Given the description of an element on the screen output the (x, y) to click on. 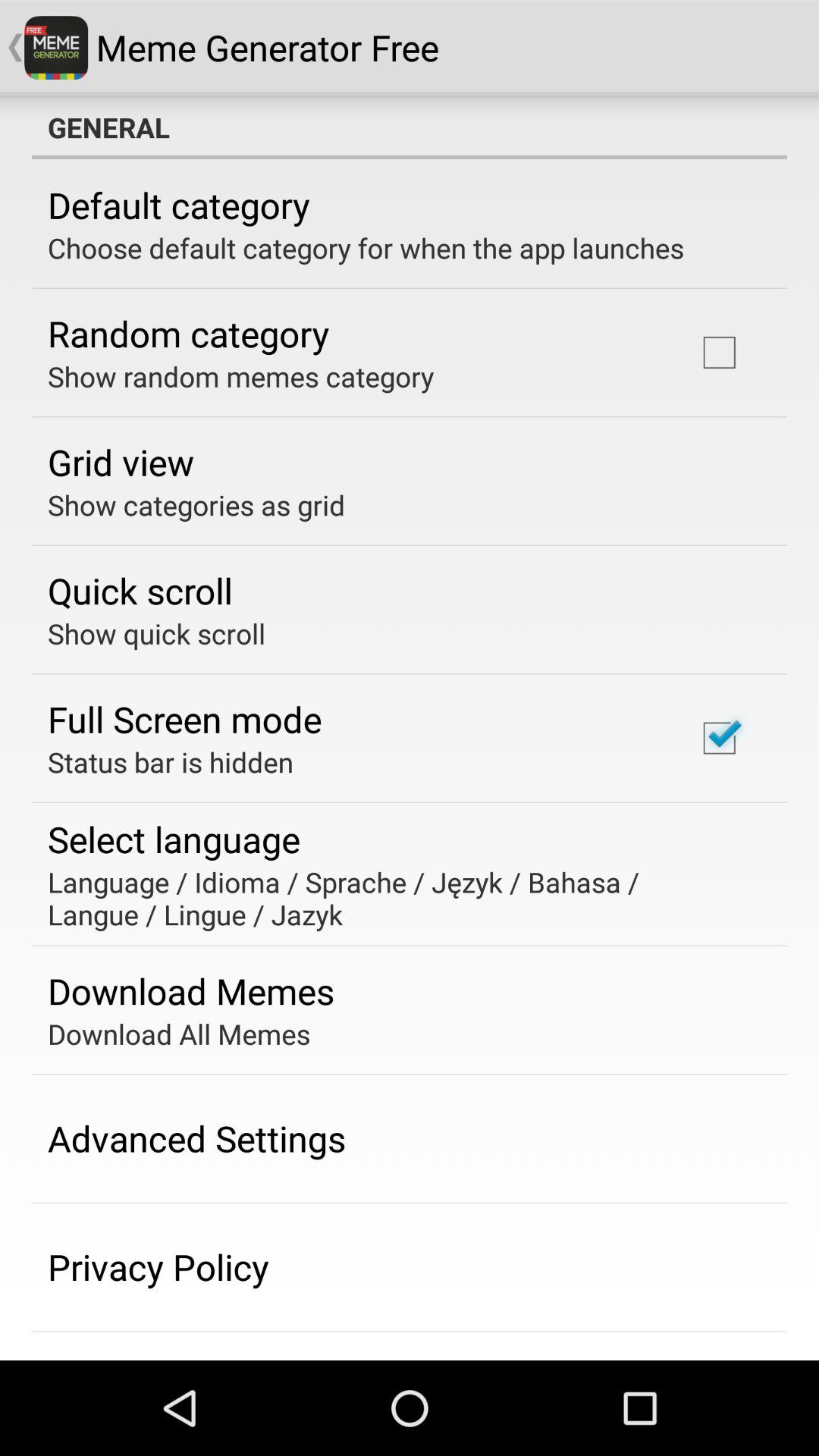
turn off the grid view app (120, 461)
